Given the description of an element on the screen output the (x, y) to click on. 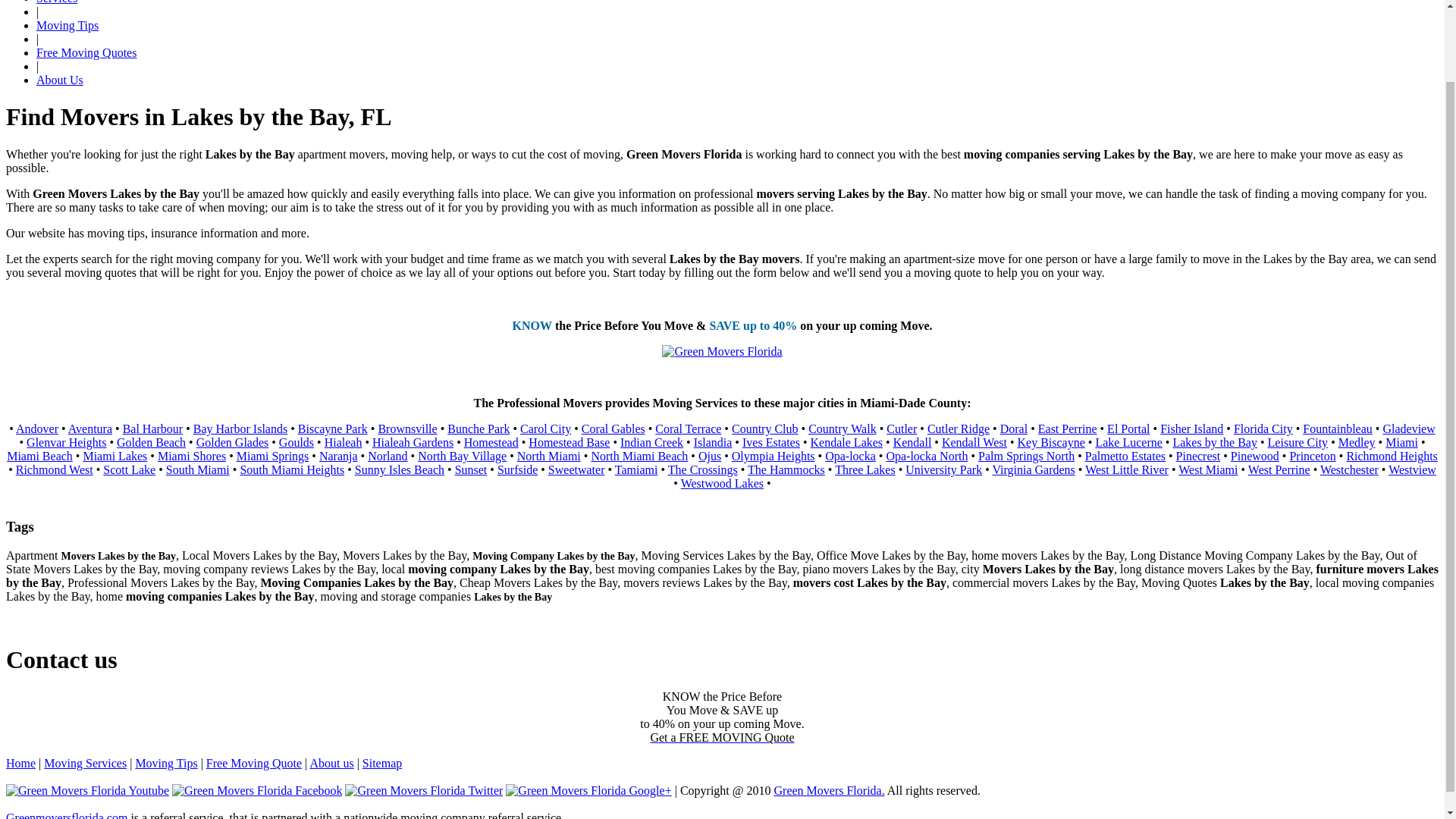
About Us (59, 79)
Homestead (491, 441)
Bal Harbour (152, 428)
Andover (37, 428)
El Portal (1128, 428)
Biscayne Park (333, 428)
Florida City (1262, 428)
Golden Beach (151, 441)
Bunche Park (477, 428)
Green Movers Florida (828, 789)
Coral Gables (612, 428)
East Perrine (1067, 428)
Doral (1013, 428)
Moving Tips (67, 24)
Homestead Base (569, 441)
